Given the description of an element on the screen output the (x, y) to click on. 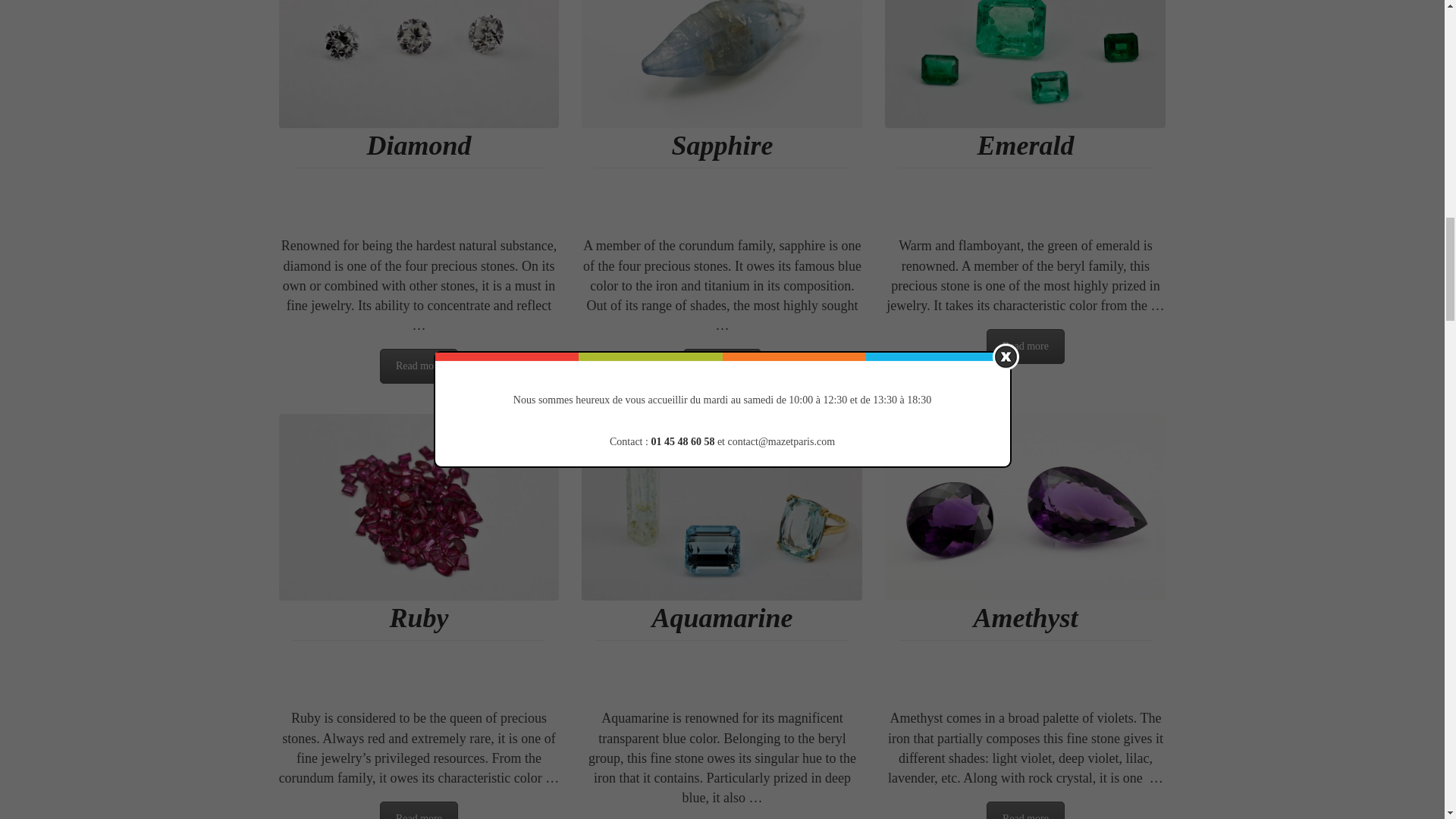
Lire la suite (1025, 810)
Lire la suite (419, 810)
Lire la suite (721, 366)
Lire la suite (419, 366)
Lire la suite (1025, 346)
Diamond (419, 144)
